Given the description of an element on the screen output the (x, y) to click on. 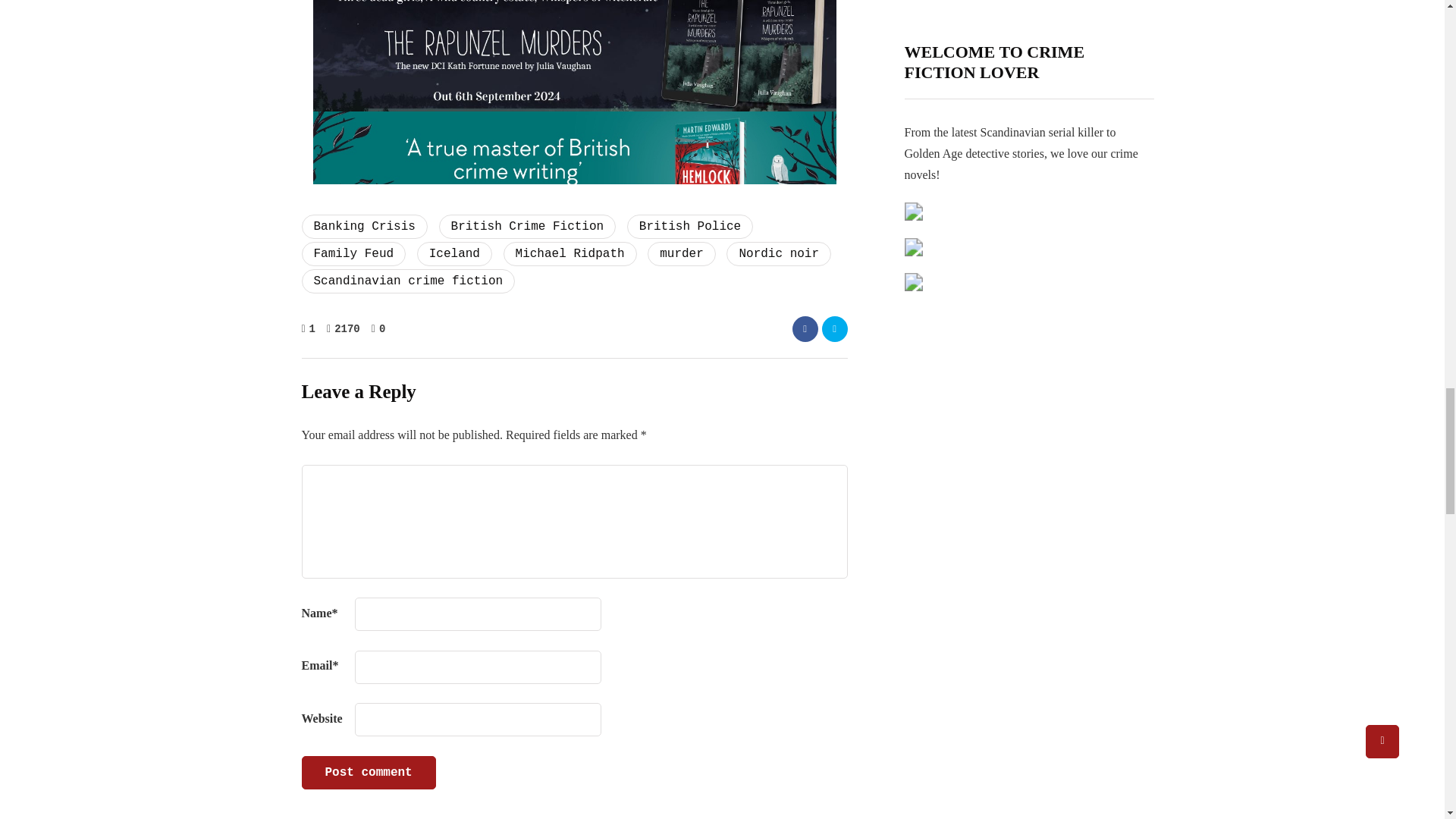
Family Feud (353, 253)
Share with Facebook (804, 329)
British Police (689, 226)
Banking Crisis (364, 226)
Tweet this (834, 329)
Post comment (368, 772)
Iceland (454, 253)
British Crime Fiction (527, 226)
